Given the description of an element on the screen output the (x, y) to click on. 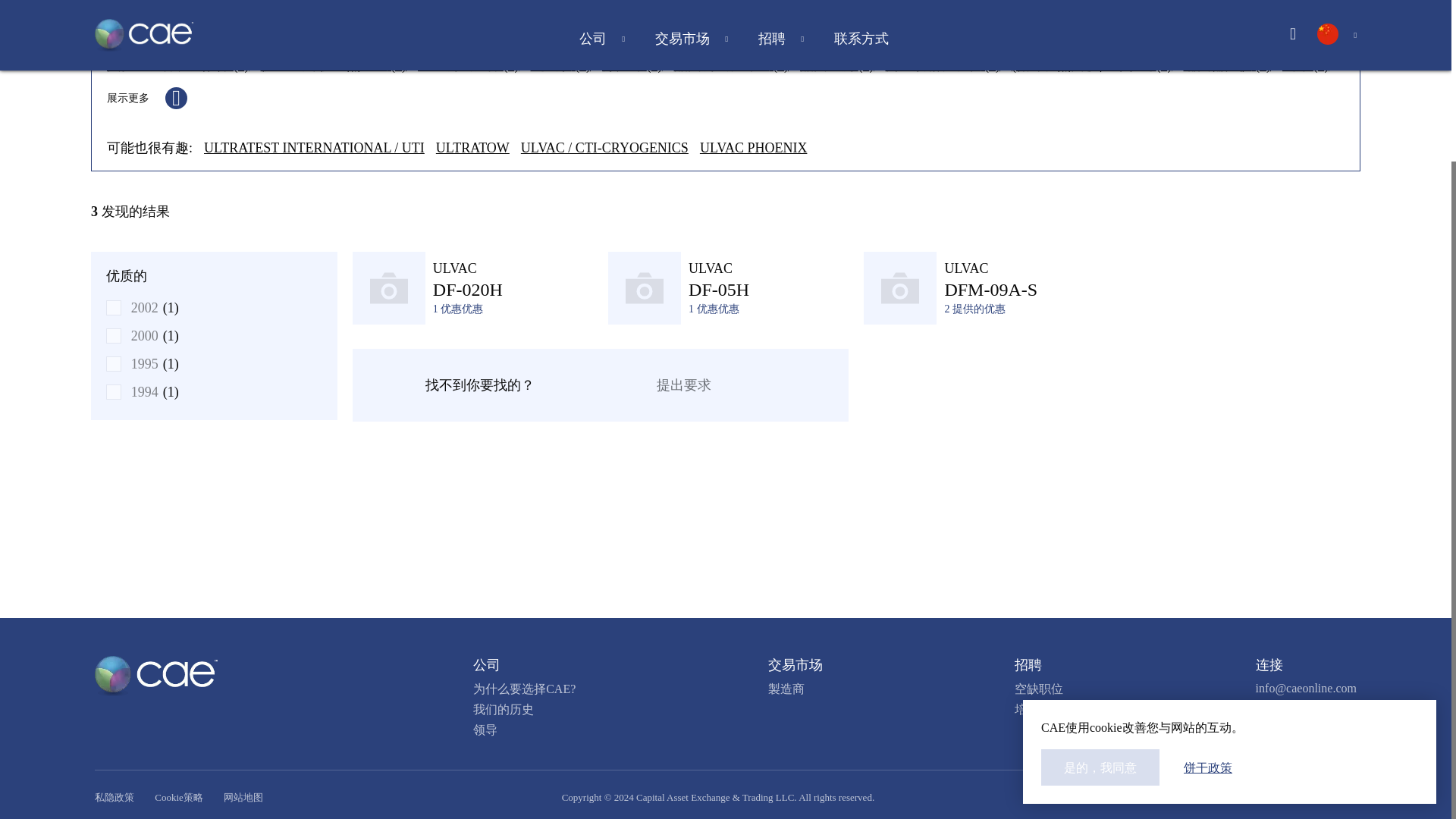
on (113, 306)
on (113, 363)
on (113, 335)
on (113, 391)
